Given the description of an element on the screen output the (x, y) to click on. 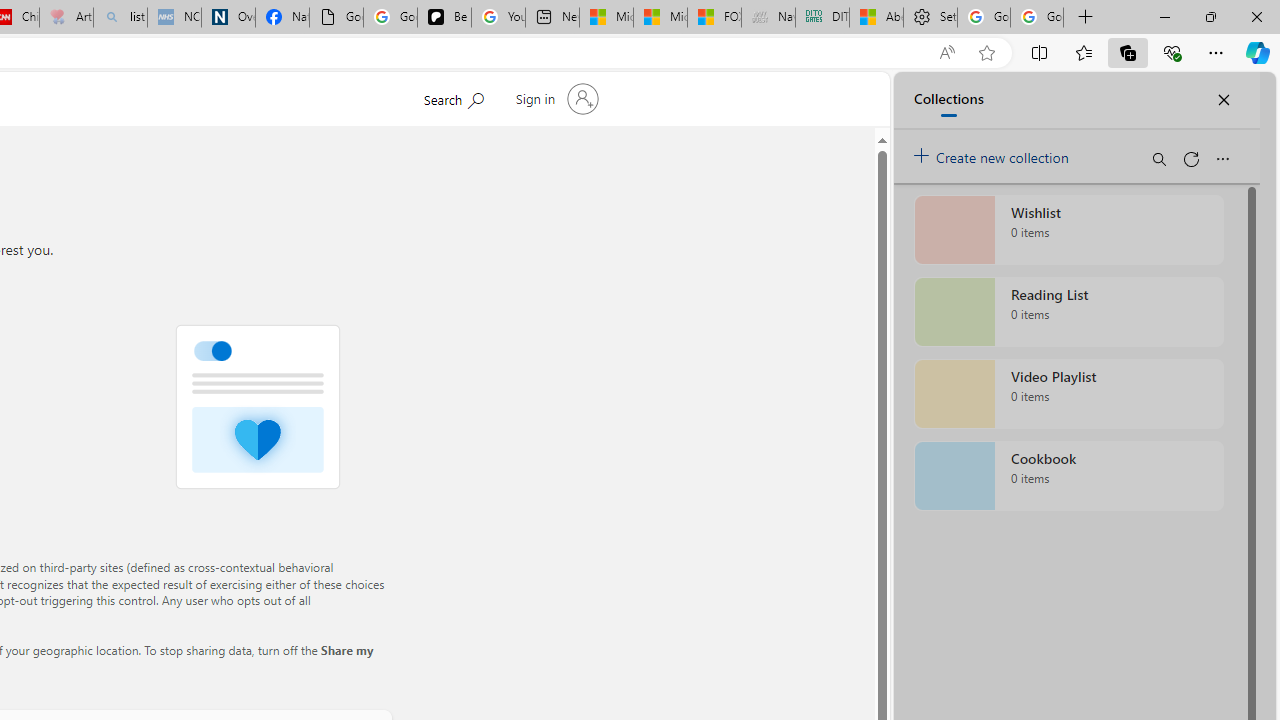
Browser essentials (1171, 52)
Be Smart | creating Science videos | Patreon (444, 17)
list of asthma inhalers uk - Search - Sleeping (120, 17)
Restore (1210, 16)
Minimize (1164, 16)
Copilot (Ctrl+Shift+.) (1258, 52)
Settings and more (Alt+F) (1215, 52)
Settings (930, 17)
Sign in to your account (554, 98)
Favorites (1083, 52)
Close (1256, 16)
